Given the description of an element on the screen output the (x, y) to click on. 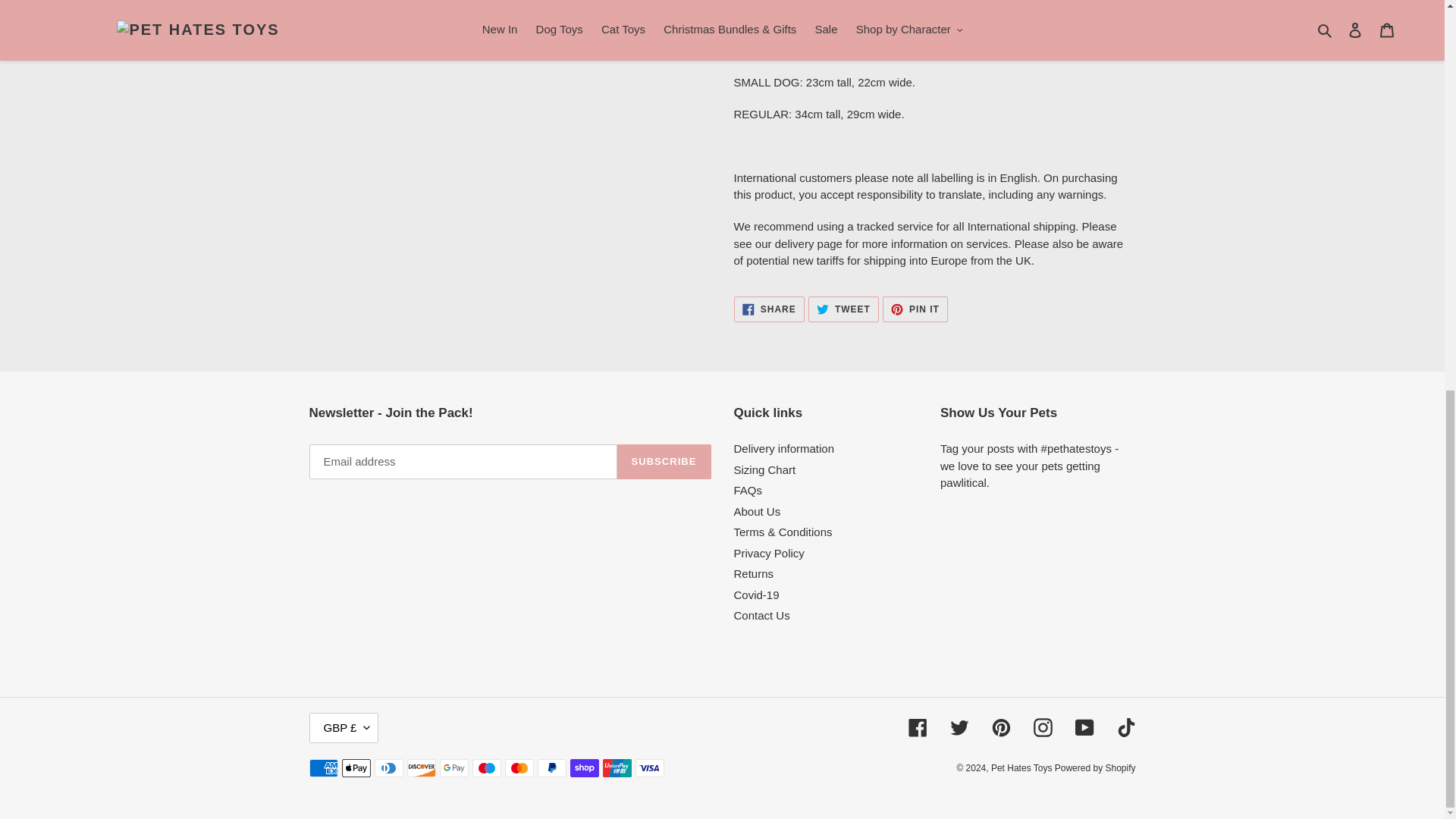
Apple Pay (354, 768)
Diners Club (388, 768)
Discover (420, 768)
Mastercard (519, 768)
Maestro (485, 768)
American Express (322, 768)
Google Pay (453, 768)
